Given the description of an element on the screen output the (x, y) to click on. 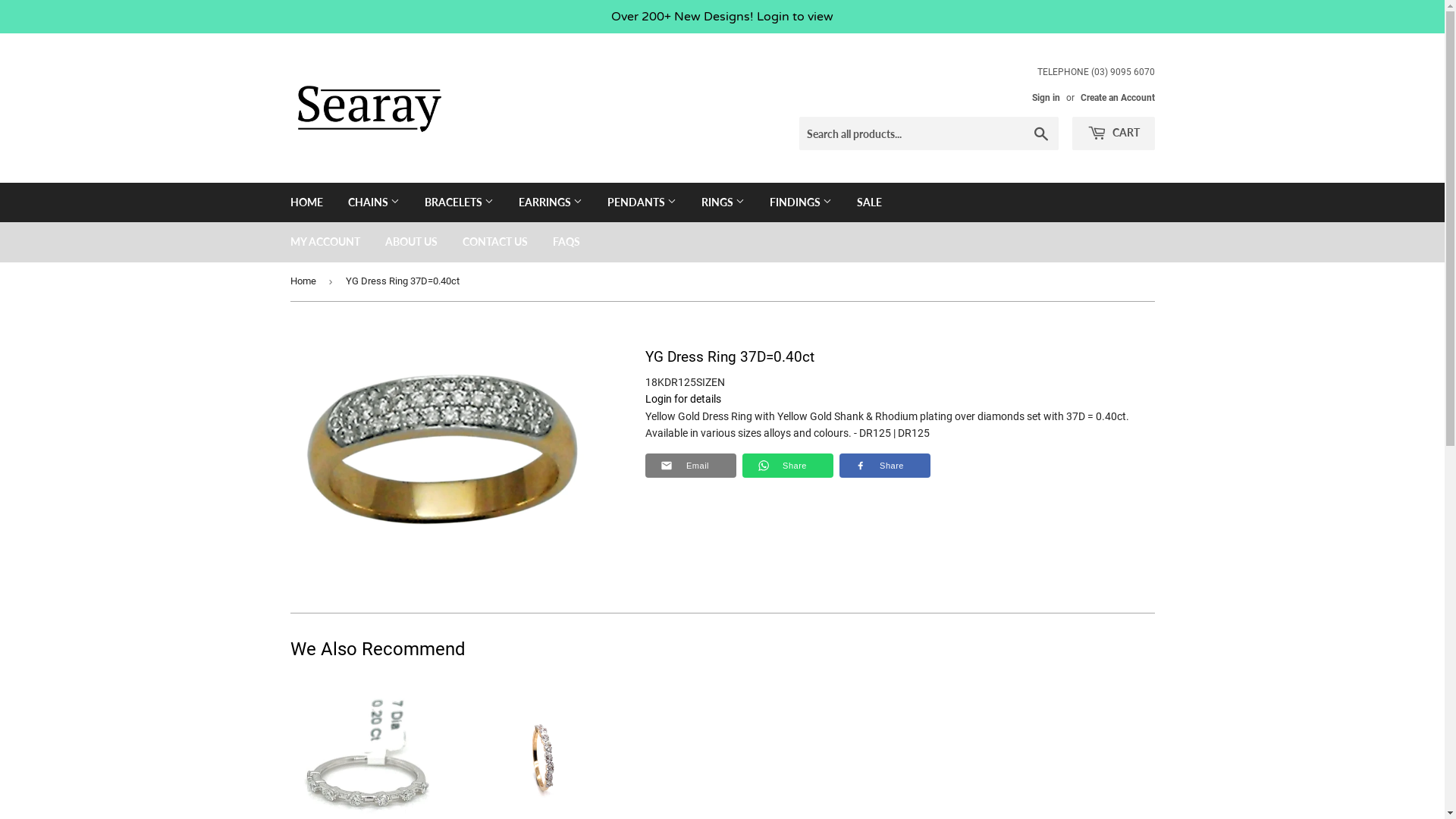
CART Element type: text (1113, 133)
MY ACCOUNT Element type: text (325, 241)
RINGS Element type: text (723, 202)
Login for details Element type: text (682, 398)
CONTACT US Element type: text (494, 241)
Home Element type: text (304, 281)
Create an Account Element type: text (1116, 97)
SALE Element type: text (868, 202)
Sign in Element type: text (1045, 97)
BRACELETS Element type: text (458, 202)
Over 200+ New Designs! Login to view Element type: text (722, 16)
ABOUT US Element type: text (410, 241)
HOME Element type: text (306, 202)
CHAINS Element type: text (373, 202)
FAQS Element type: text (566, 241)
EARRINGS Element type: text (549, 202)
FINDINGS Element type: text (800, 202)
PENDANTS Element type: text (641, 202)
Search Element type: text (1040, 134)
